Given the description of an element on the screen output the (x, y) to click on. 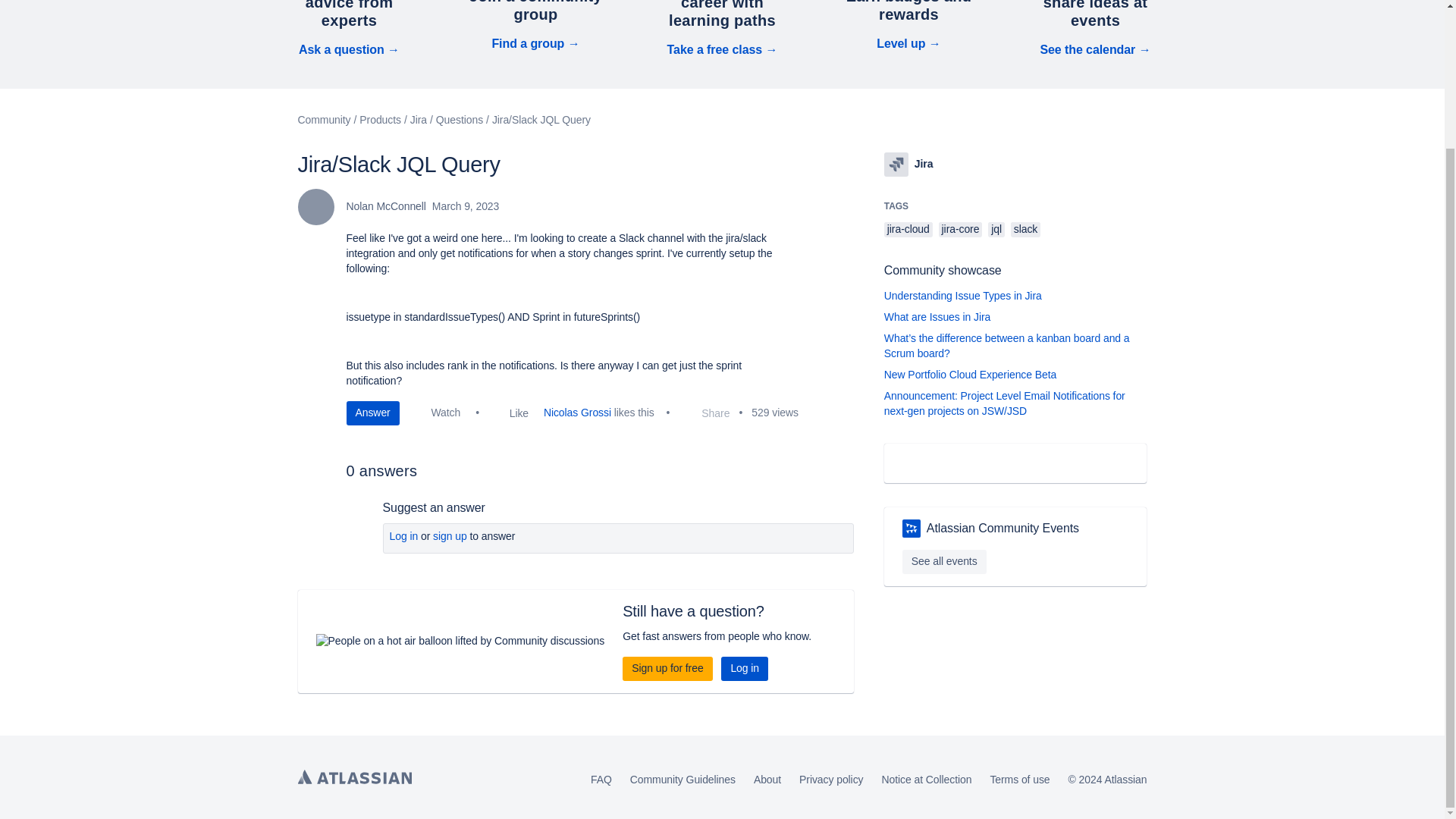
AUG Leaders (911, 528)
Nolan McConnell (315, 207)
Jira (895, 164)
